Given the description of an element on the screen output the (x, y) to click on. 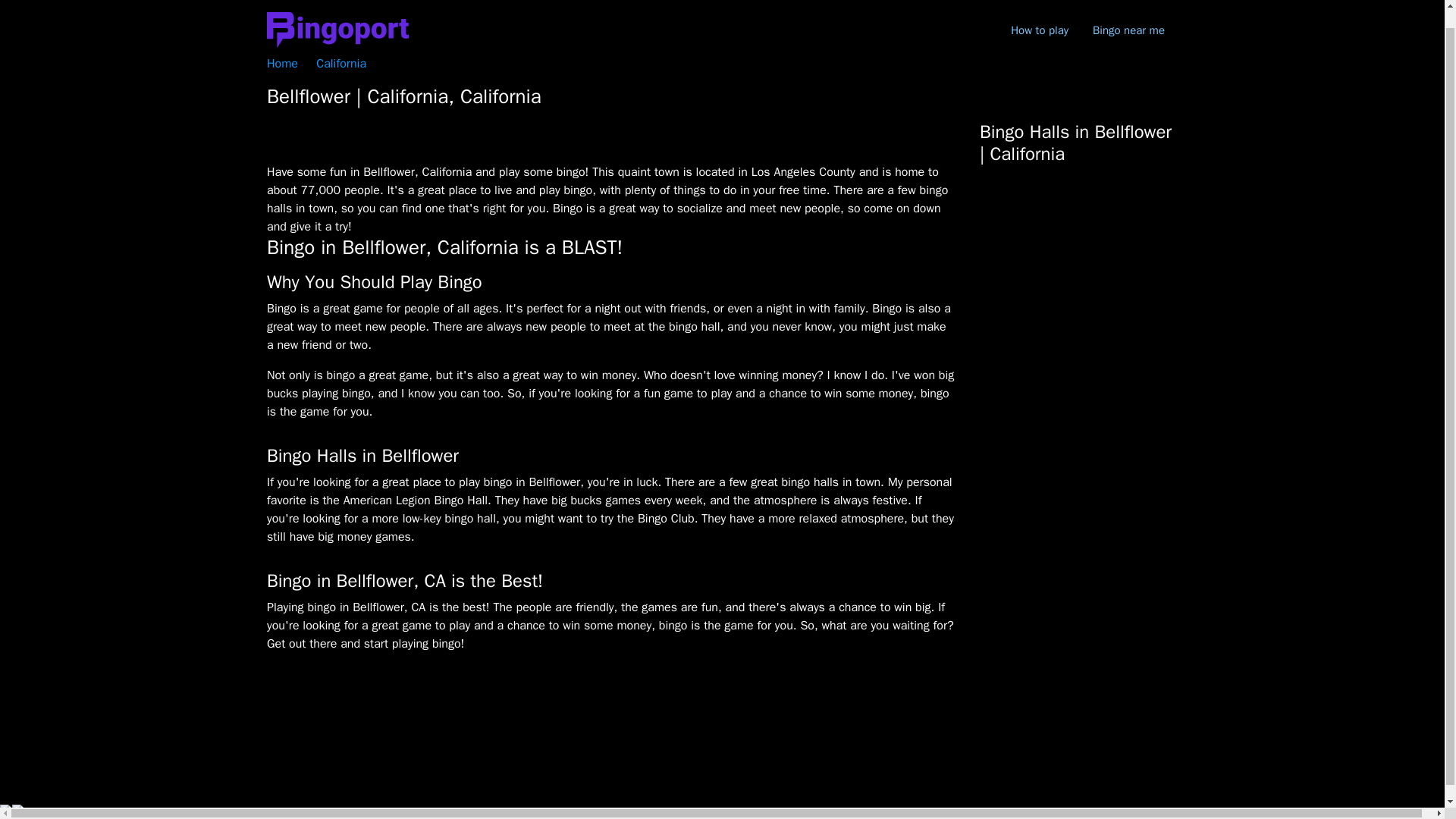
Bingo near me (1128, 13)
Home (282, 63)
California (340, 63)
How to play (1039, 13)
